Given the description of an element on the screen output the (x, y) to click on. 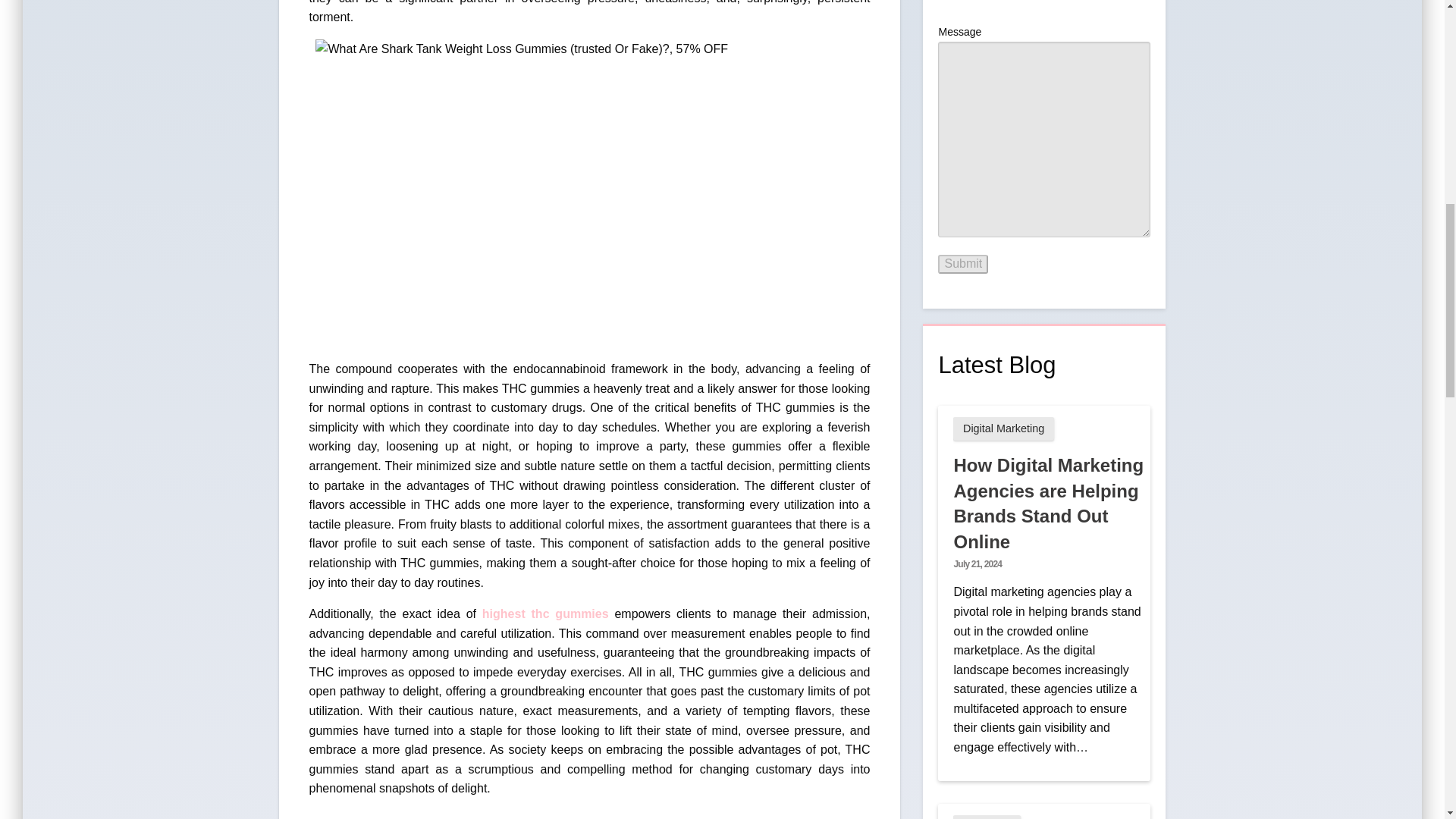
Submit (962, 263)
highest thc gummies (544, 613)
Digital Marketing (1002, 428)
Submit (962, 263)
